Given the description of an element on the screen output the (x, y) to click on. 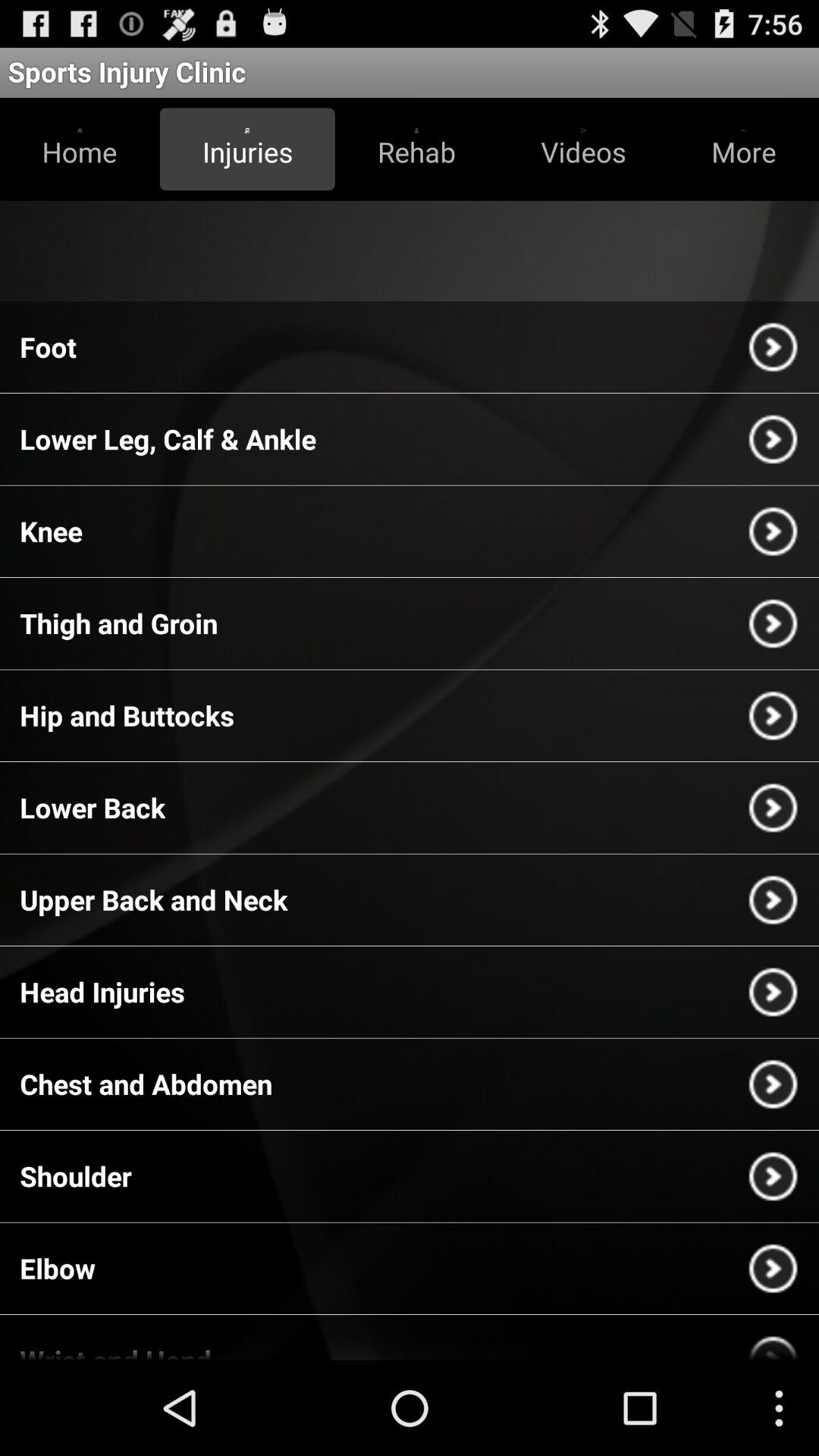
click item to the right of the lower leg calf (773, 439)
